Given the description of an element on the screen output the (x, y) to click on. 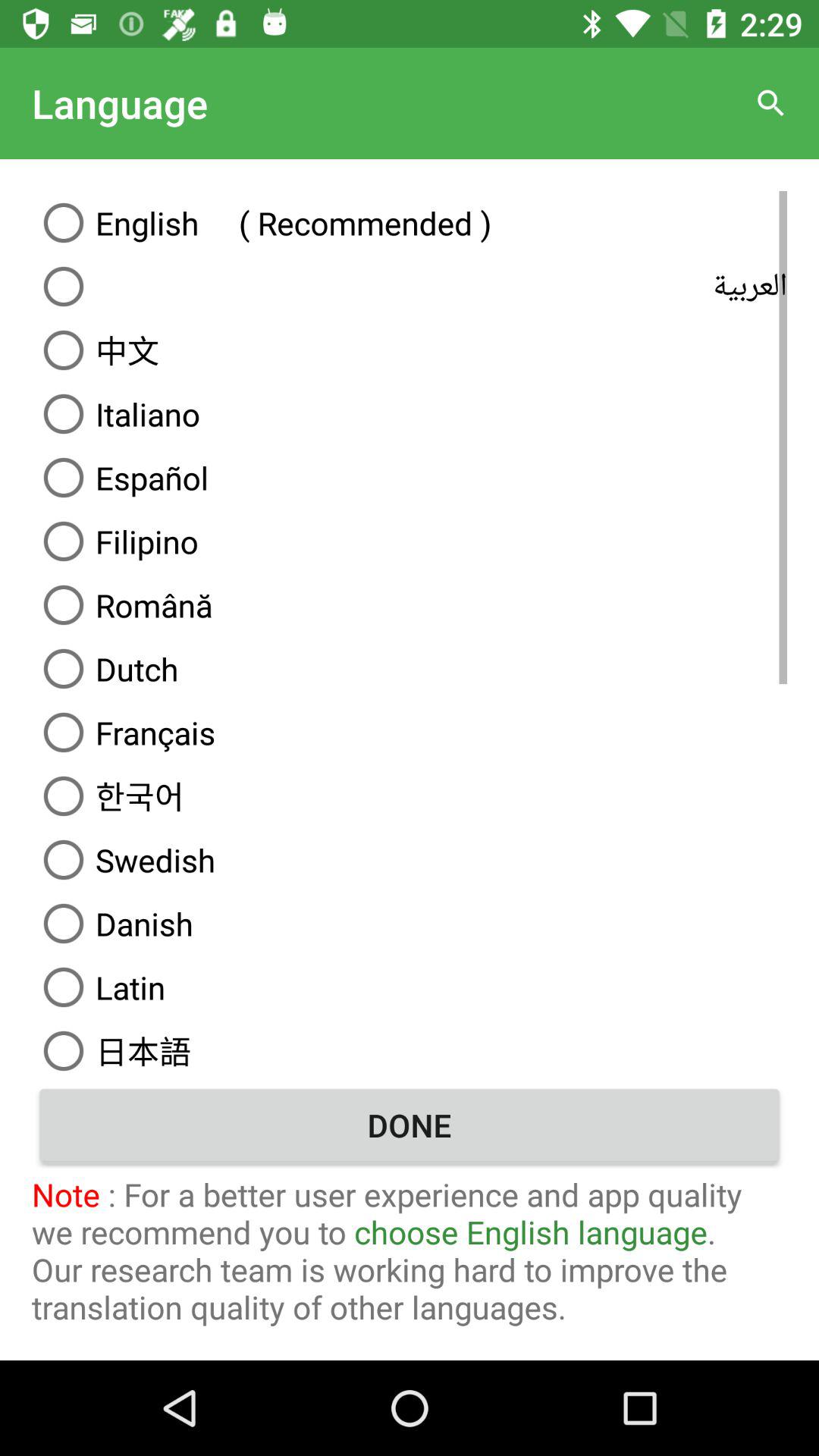
turn off the done icon (409, 1124)
